Given the description of an element on the screen output the (x, y) to click on. 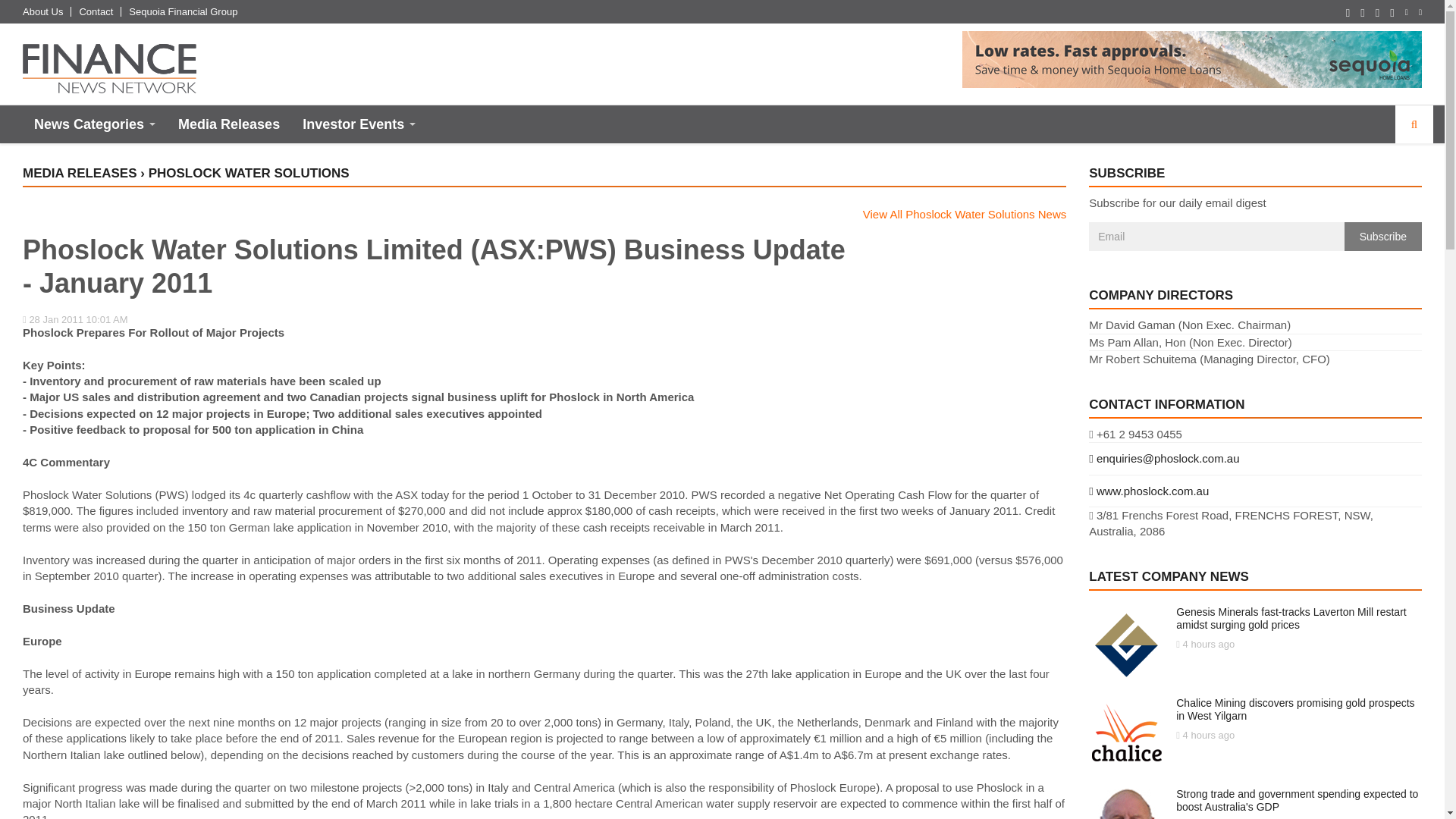
Media Releases (229, 124)
About Us (42, 11)
MEDIA RELEASES (79, 173)
Search (1413, 124)
PHOSLOCK WATER SOLUTIONS (248, 173)
Finance News Network (109, 68)
www.phoslock.com.au (1255, 490)
View All Phoslock Water Solutions News (964, 214)
